Given the description of an element on the screen output the (x, y) to click on. 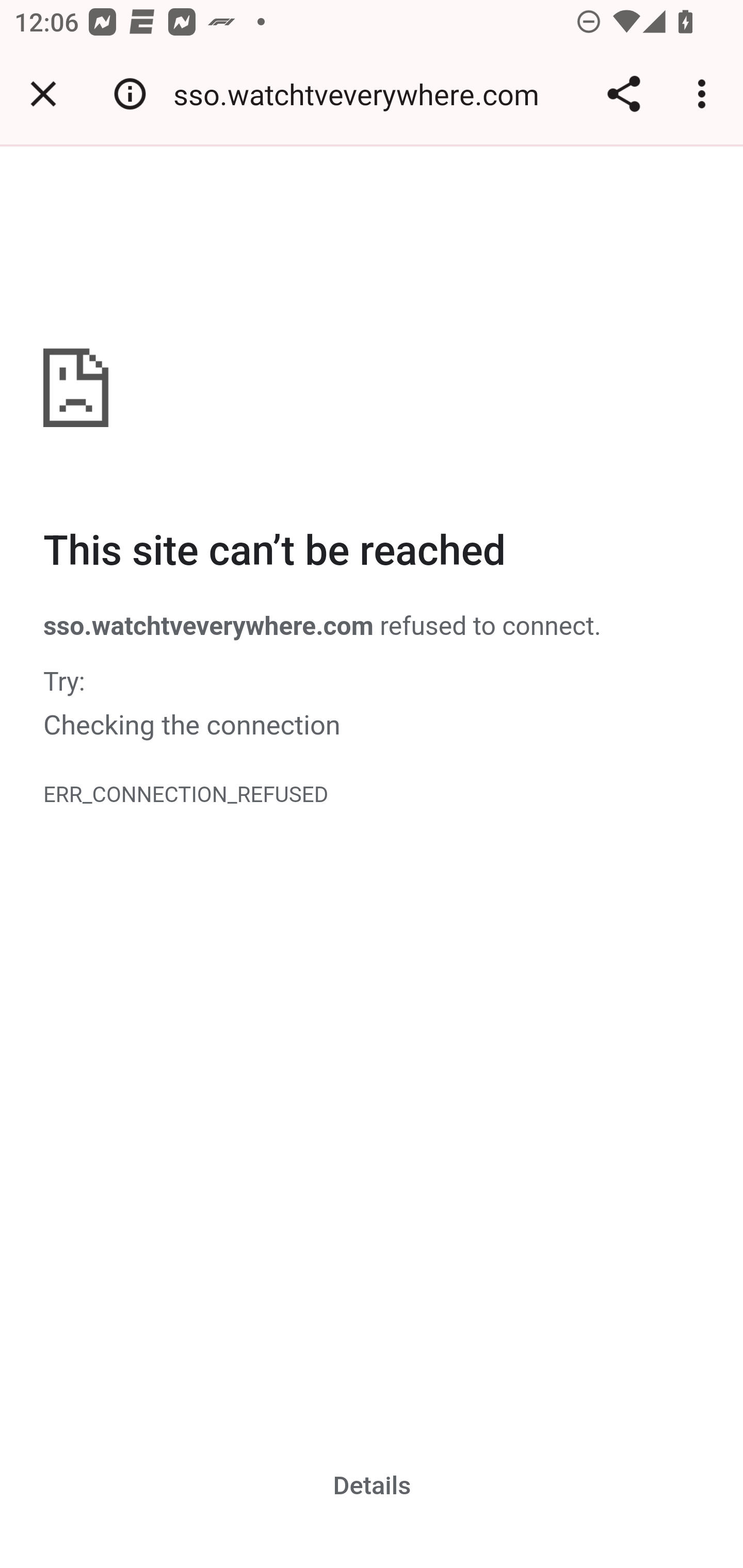
Close tab (43, 93)
Share (623, 93)
Customize and control Google Chrome (705, 93)
Your connection to this site is not secure (129, 93)
sso.watchtveverywhere.com (363, 93)
Details (372, 1485)
